Given the description of an element on the screen output the (x, y) to click on. 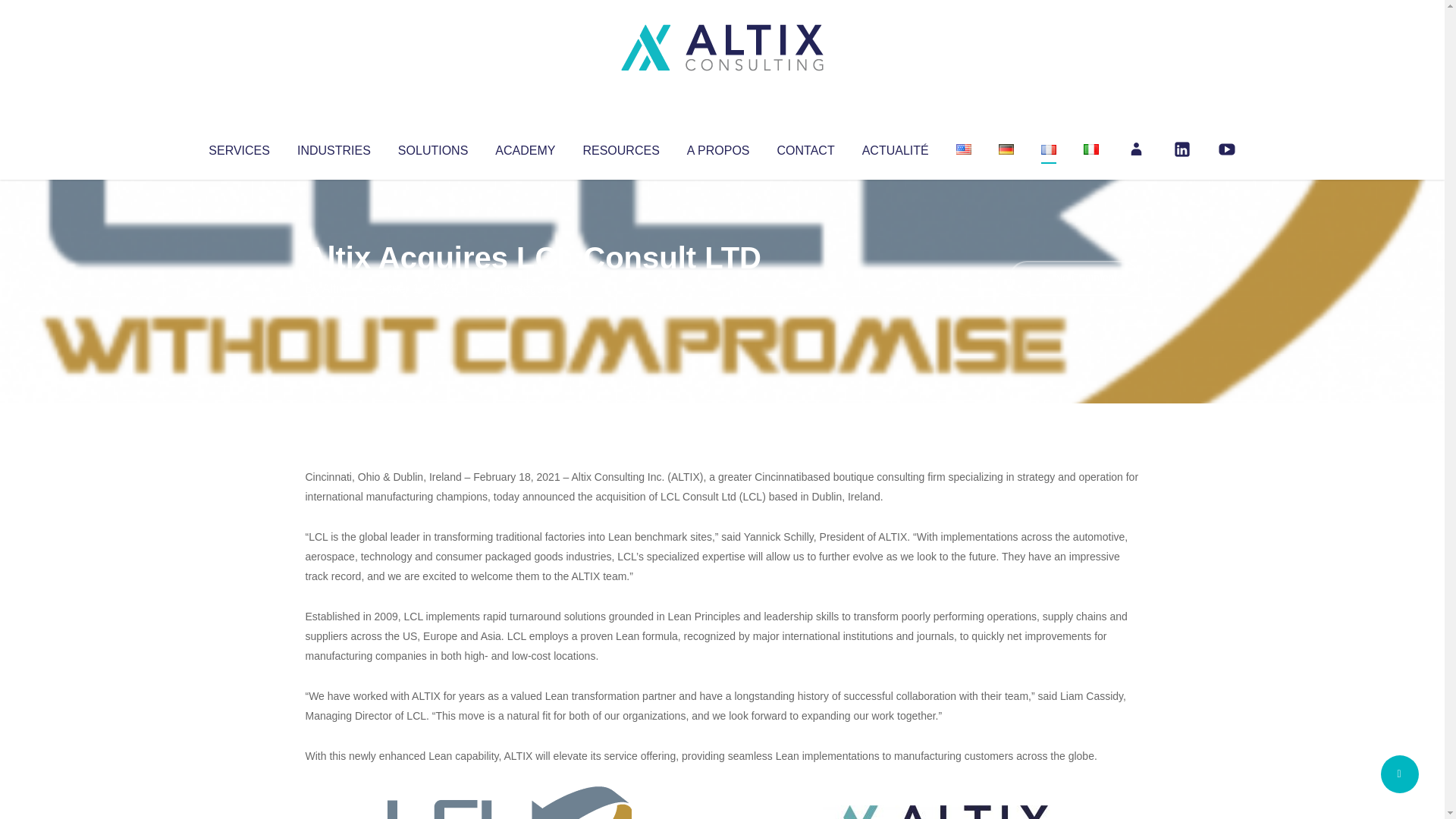
No Comments (1073, 278)
A PROPOS (718, 146)
Uncategorized (530, 287)
Articles par Altix (333, 287)
ACADEMY (524, 146)
SOLUTIONS (432, 146)
Altix (333, 287)
INDUSTRIES (334, 146)
RESOURCES (620, 146)
SERVICES (238, 146)
